Given the description of an element on the screen output the (x, y) to click on. 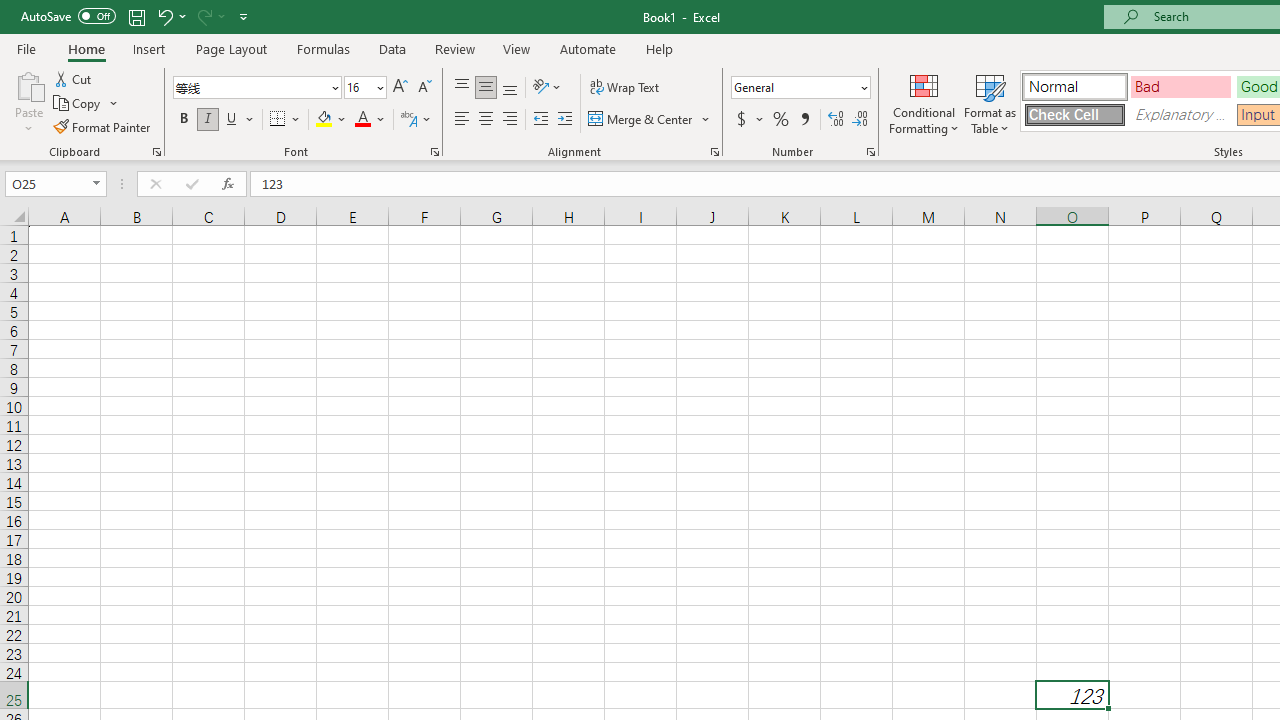
Accounting Number Format (749, 119)
Format Cell Number (870, 151)
Borders (285, 119)
Font Color (370, 119)
Increase Font Size (399, 87)
Bottom Align (509, 87)
Format as Table (990, 102)
Middle Align (485, 87)
Bad (1180, 86)
